Given the description of an element on the screen output the (x, y) to click on. 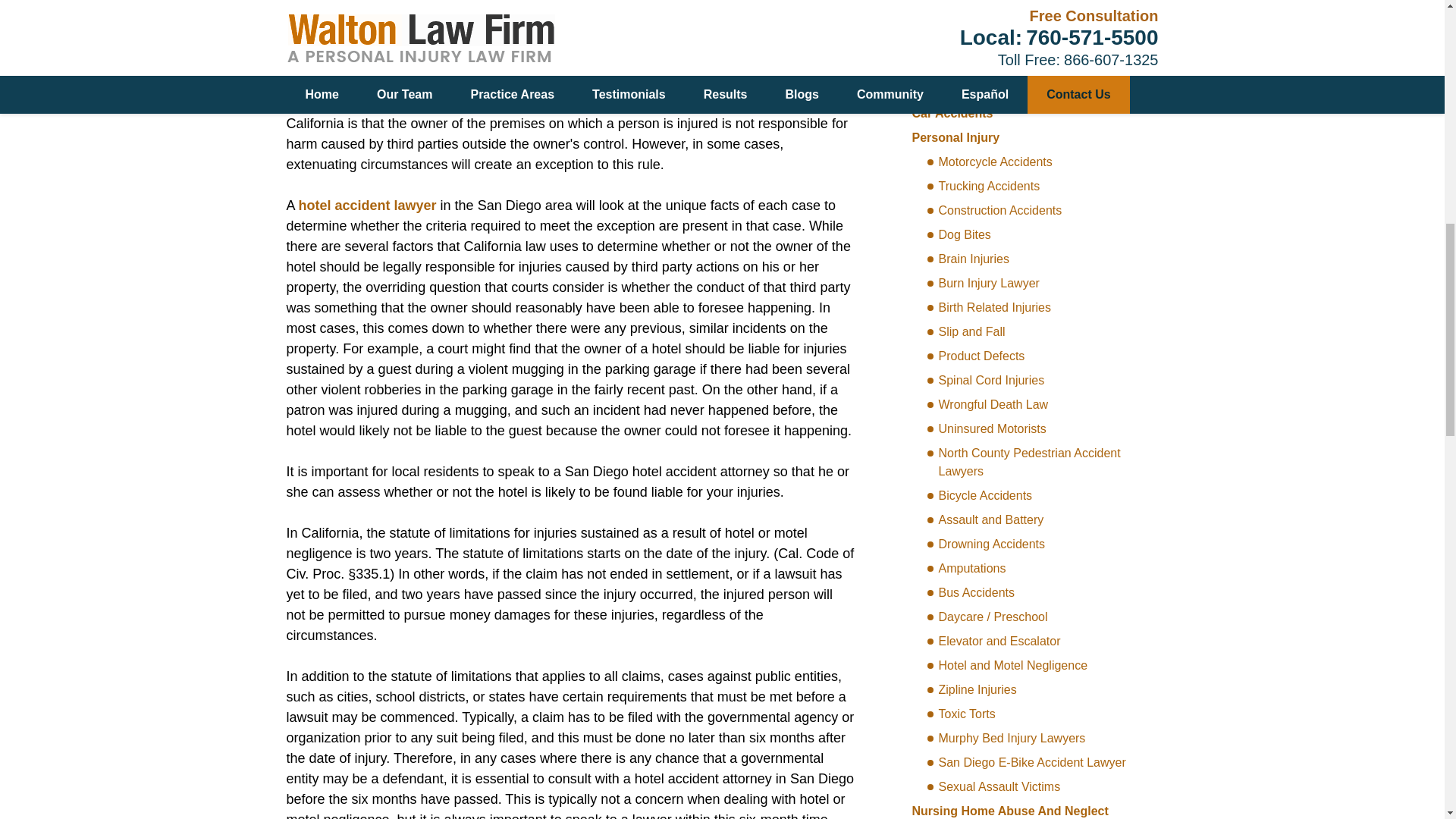
Personal Injury (954, 137)
Car Accidents (951, 113)
CONTACT US NOW (1024, 12)
hotel accident lawyer (367, 205)
Practice Areas (960, 88)
Motorcycle Accidents (988, 162)
